Given the description of an element on the screen output the (x, y) to click on. 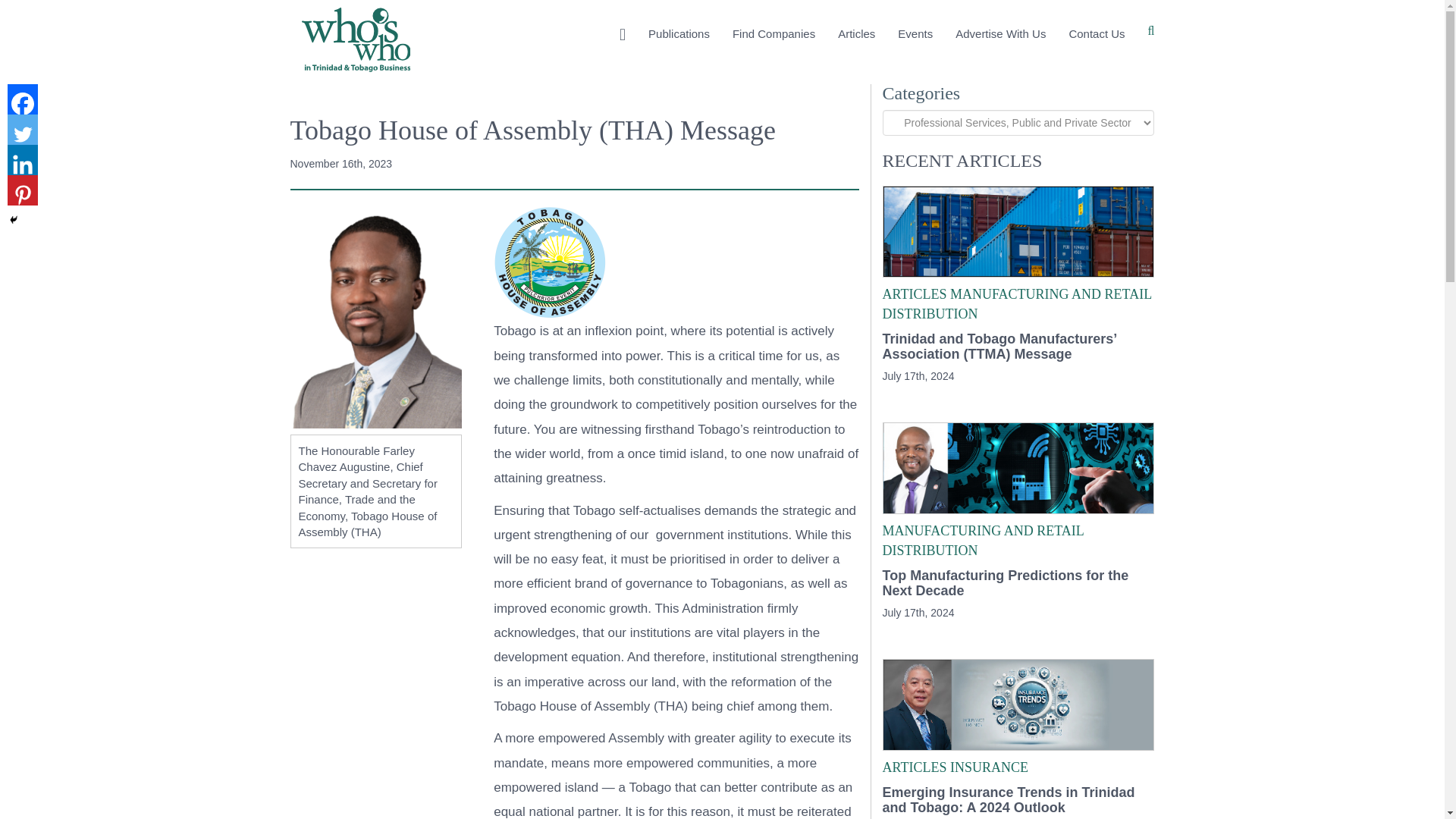
Top Manufacturing Predictions for the Next Decade (1018, 583)
Articles (856, 34)
Twitter (22, 129)
Linkedin (22, 159)
Pinterest (22, 190)
Facebook (22, 99)
Publications (678, 34)
Events (914, 34)
Contact Us (1096, 34)
Advertise With Us (1000, 34)
Hide (13, 219)
Find Companies (773, 34)
